Given the description of an element on the screen output the (x, y) to click on. 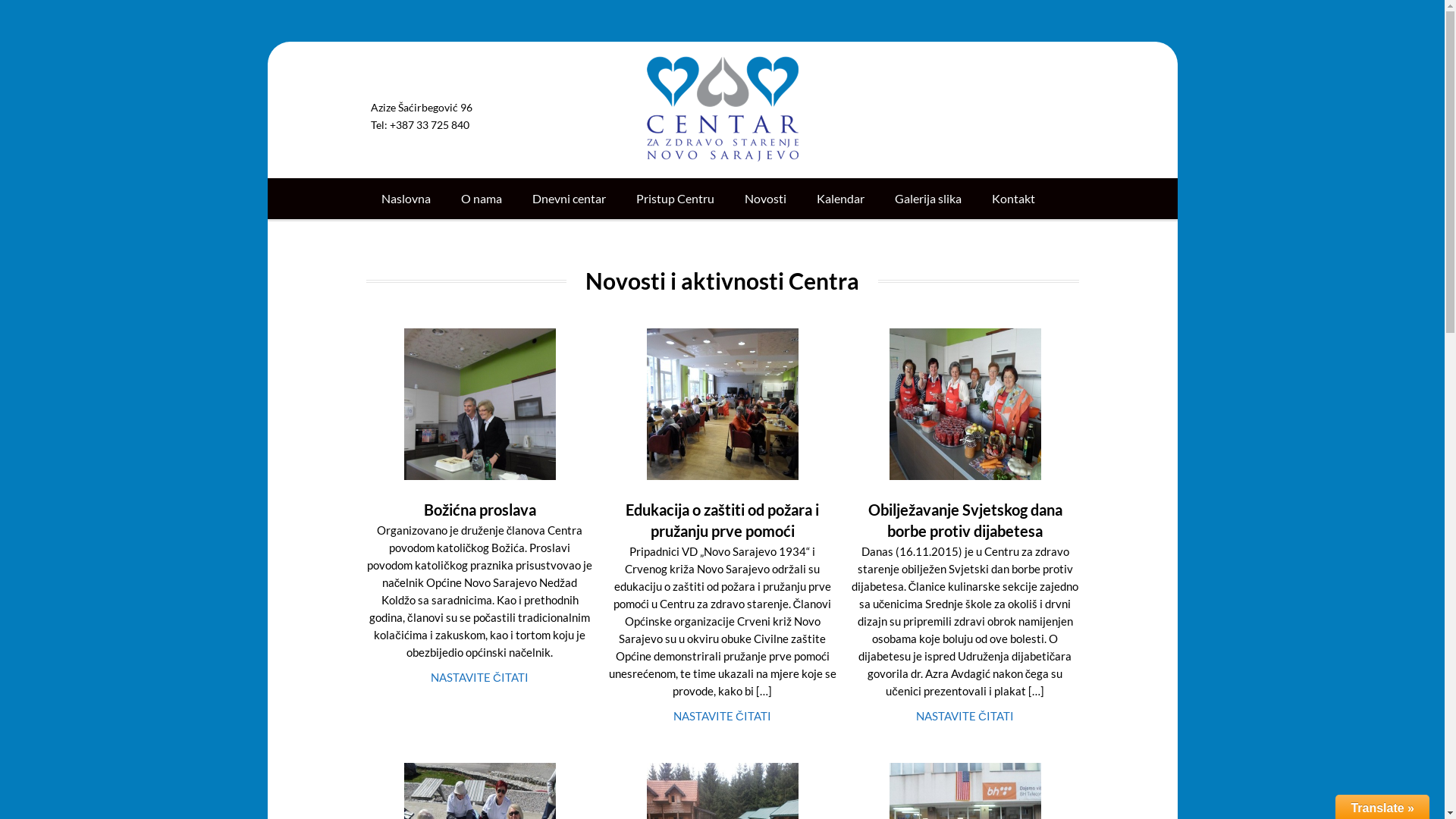
Kontakt Element type: text (1013, 198)
Kalendar Element type: text (839, 198)
Galerija slika Element type: text (927, 198)
Naslovna Element type: text (405, 198)
Dnevni centar Element type: text (569, 198)
Novosti Element type: text (765, 198)
O nama Element type: text (481, 198)
Pristup Centru Element type: text (674, 198)
